Given the description of an element on the screen output the (x, y) to click on. 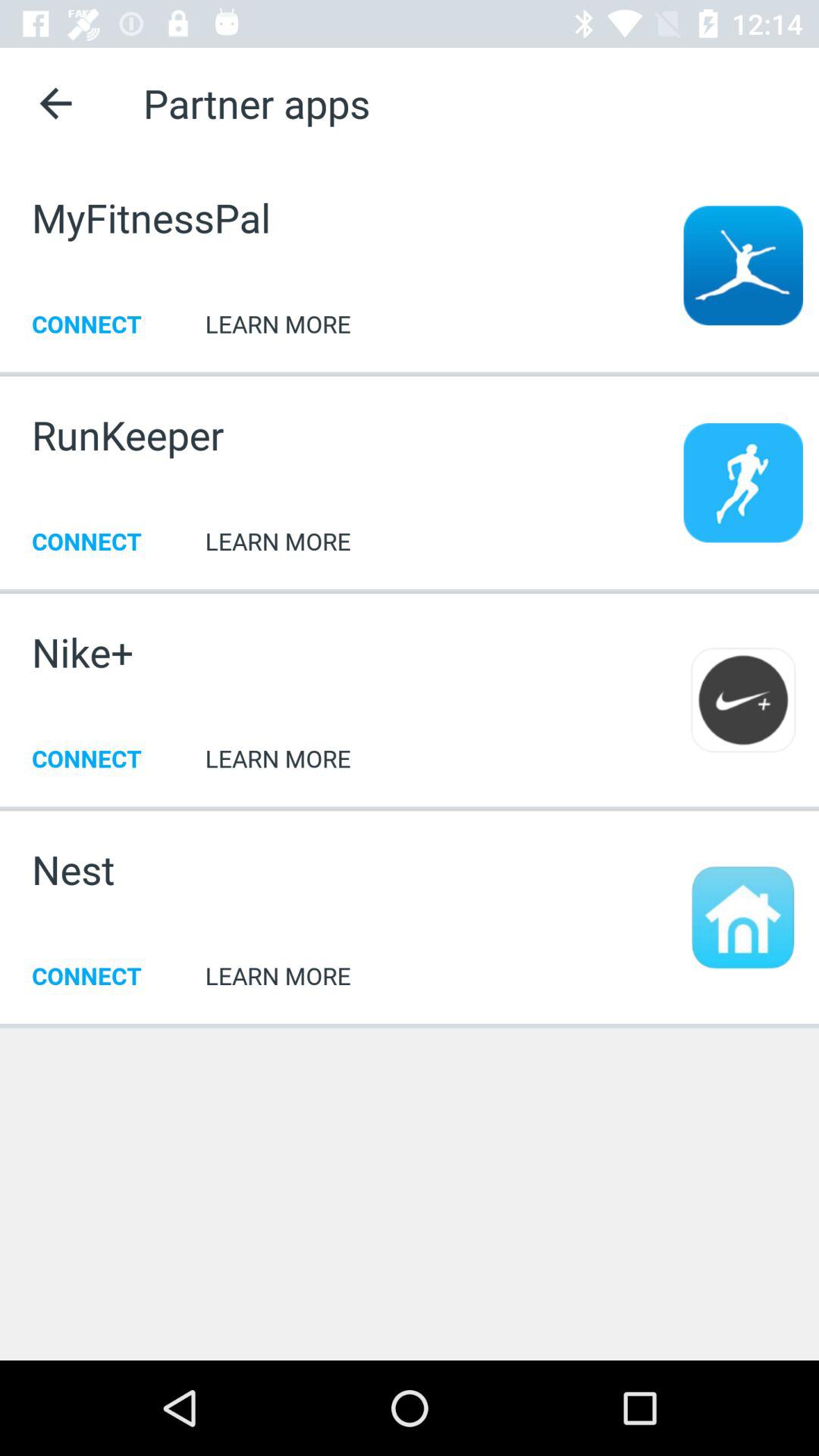
launch icon to the left of learn more (82, 651)
